Given the description of an element on the screen output the (x, y) to click on. 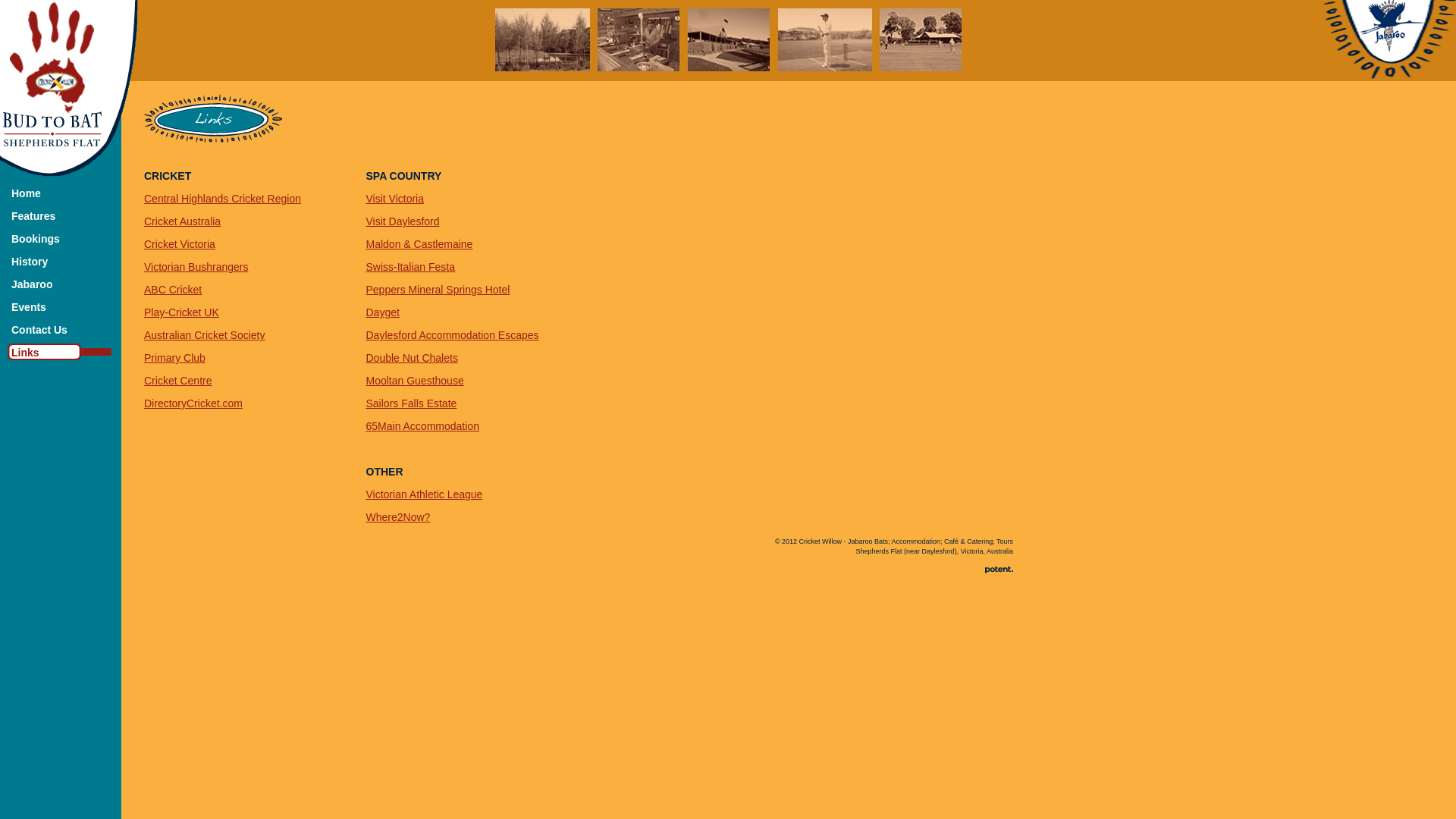
Cricket Victoria Element type: text (179, 244)
Australian Cricket Society Element type: text (204, 335)
Dayget Element type: text (381, 312)
DirectoryCricket.com Element type: text (193, 403)
Double Nut Chalets Element type: text (411, 357)
Bookings Element type: text (35, 238)
Maldon & Castlemaine Element type: text (418, 244)
Central Highlands Cricket Region Element type: text (222, 198)
Swiss-Italian Festa Element type: text (409, 266)
Home Element type: text (25, 193)
Sailors Falls Estate Element type: text (410, 403)
Cricket Willow Element type: hover (69, 88)
Visit Victoria Element type: text (394, 198)
Daylesford Accommodation Escapes Element type: text (451, 335)
Links Element type: text (25, 352)
Contact Us Element type: text (39, 329)
Features Element type: text (33, 216)
Visit Daylesford Element type: text (402, 221)
Cricket Australia Element type: text (182, 221)
Jabaroo Element type: text (31, 284)
Victorian Bushrangers Element type: text (195, 266)
Primary Club Element type: text (174, 357)
Victorian Athletic League Element type: text (423, 494)
Mooltan Guesthouse Element type: text (414, 380)
Cricket Centre Element type: text (177, 380)
Play-Cricket UK Element type: text (181, 312)
ABC Cricket Element type: text (172, 289)
Events Element type: text (28, 307)
History Element type: text (29, 261)
Peppers Mineral Springs Hotel Element type: text (437, 289)
65Main Accommodation Element type: text (421, 426)
Where2Now? Element type: text (397, 517)
